Given the description of an element on the screen output the (x, y) to click on. 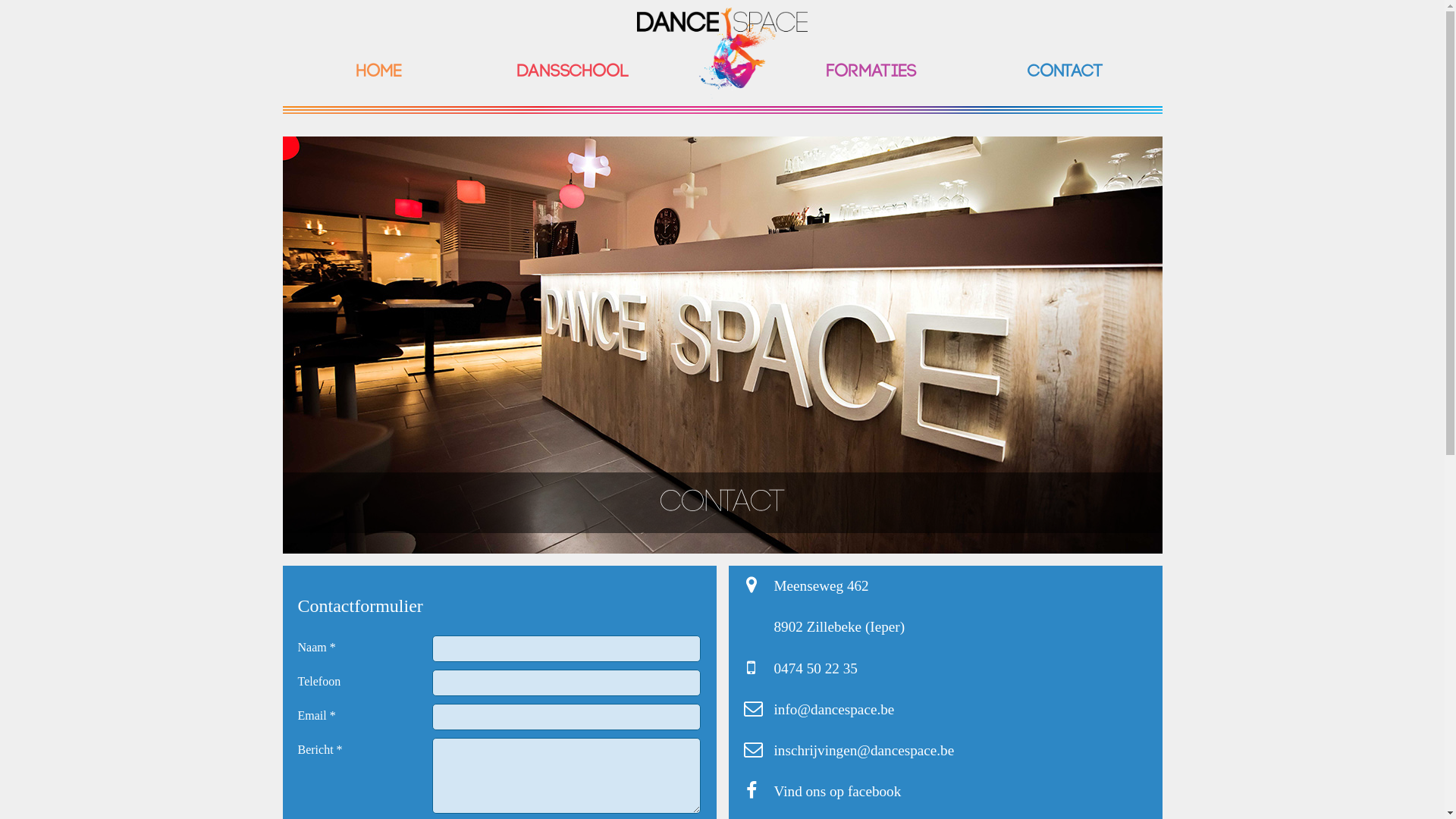
Home Element type: text (378, 72)
Formaties Element type: text (871, 72)
Vind ons op facebook Element type: text (836, 791)
Dansschool Element type: text (572, 72)
Contact Element type: text (1064, 72)
info@dancespace.be Element type: text (833, 709)
inschrijvingen@dancespace.be Element type: text (863, 750)
